Given the description of an element on the screen output the (x, y) to click on. 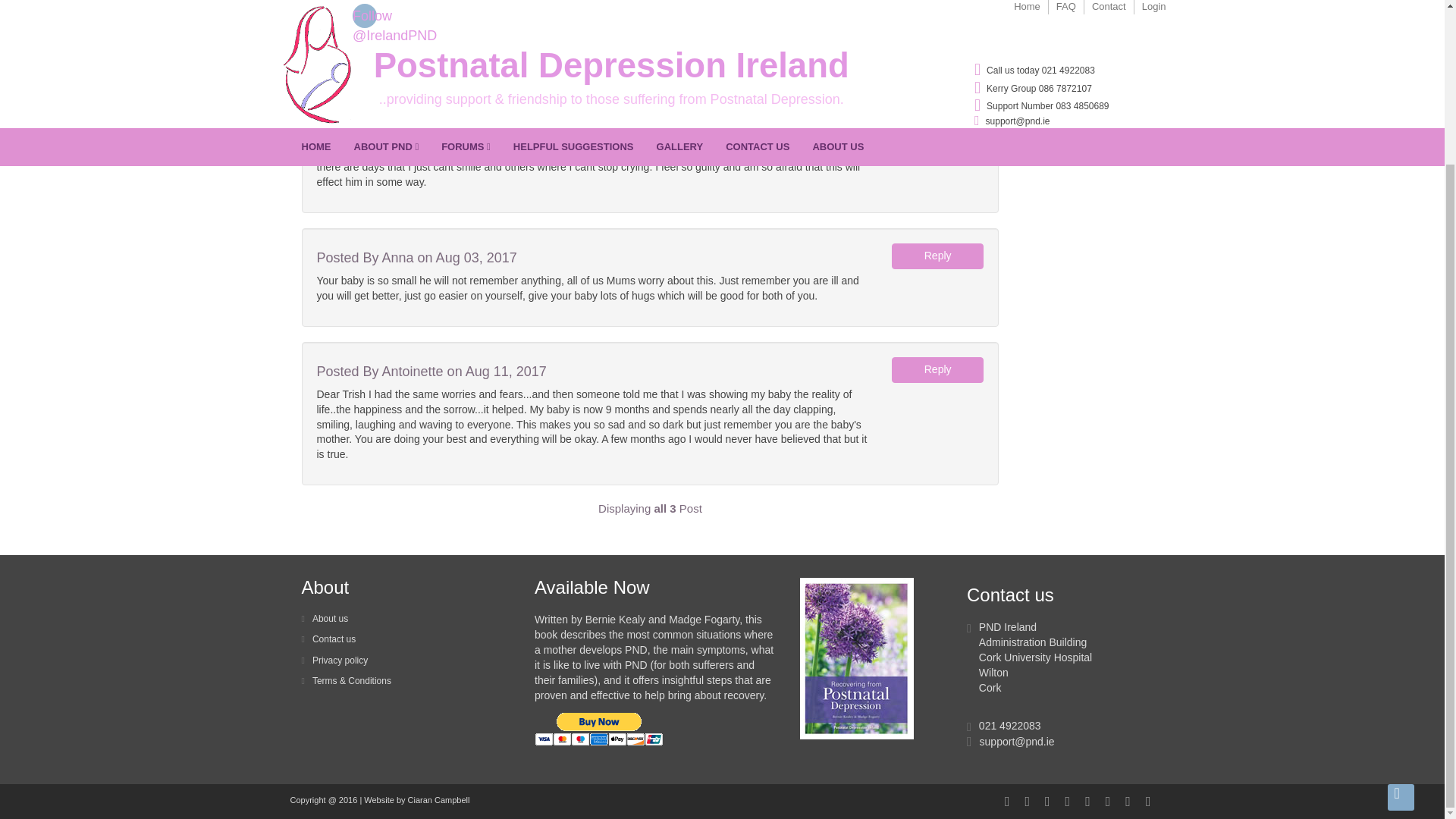
Mums (971, 11)
Reply (937, 370)
Contact us (328, 638)
Privacy policy (334, 660)
Home (888, 11)
Reply (937, 256)
About us (325, 618)
Reply (937, 127)
